Given the description of an element on the screen output the (x, y) to click on. 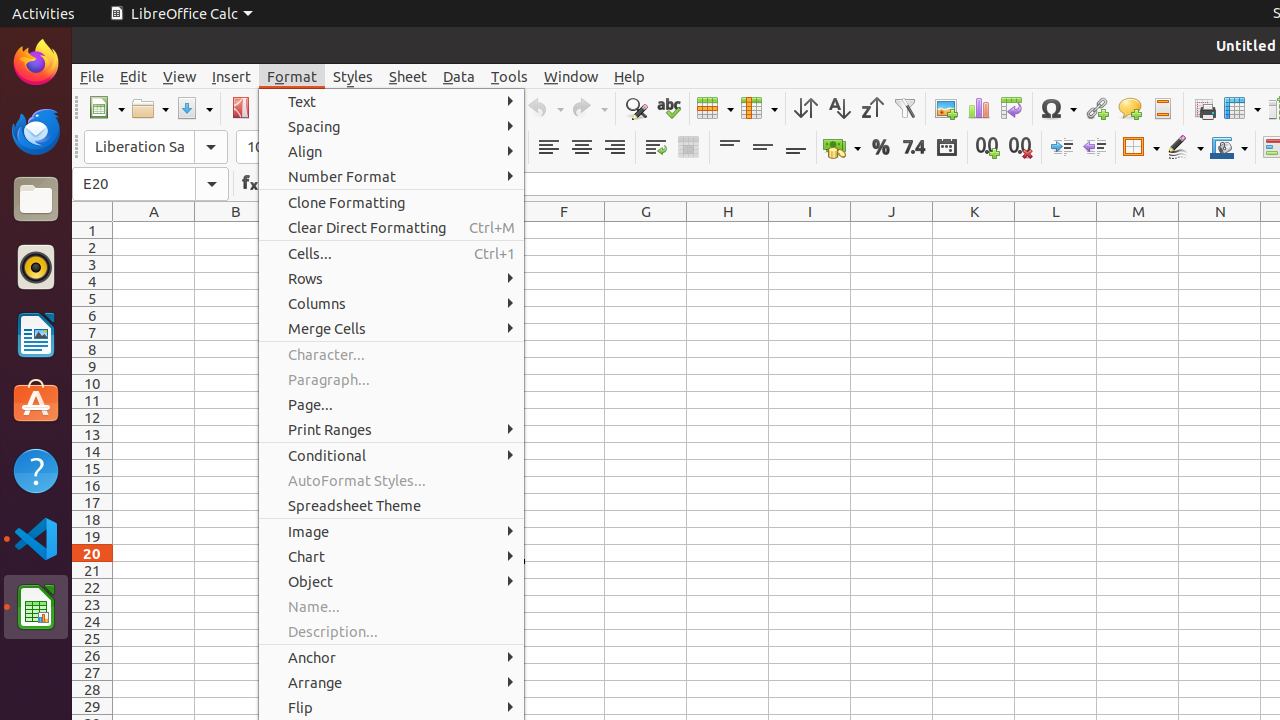
G1 Element type: table-cell (646, 230)
Data Element type: menu (459, 76)
Paragraph... Element type: menu-item (391, 379)
Name... Element type: menu-item (391, 606)
Sheet Element type: menu (408, 76)
